Given the description of an element on the screen output the (x, y) to click on. 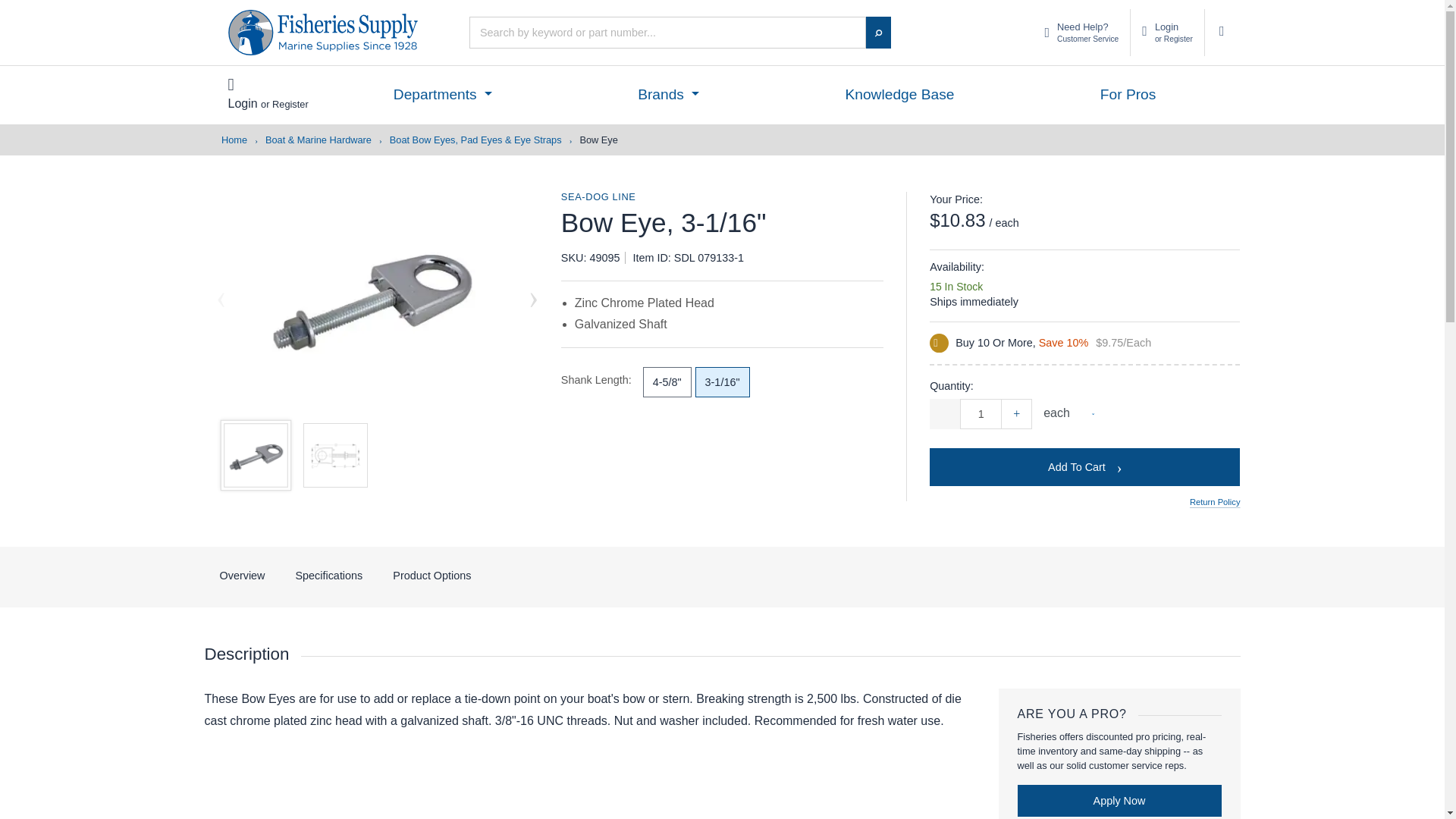
Login or Register (1167, 32)
1 (267, 92)
